Given the description of an element on the screen output the (x, y) to click on. 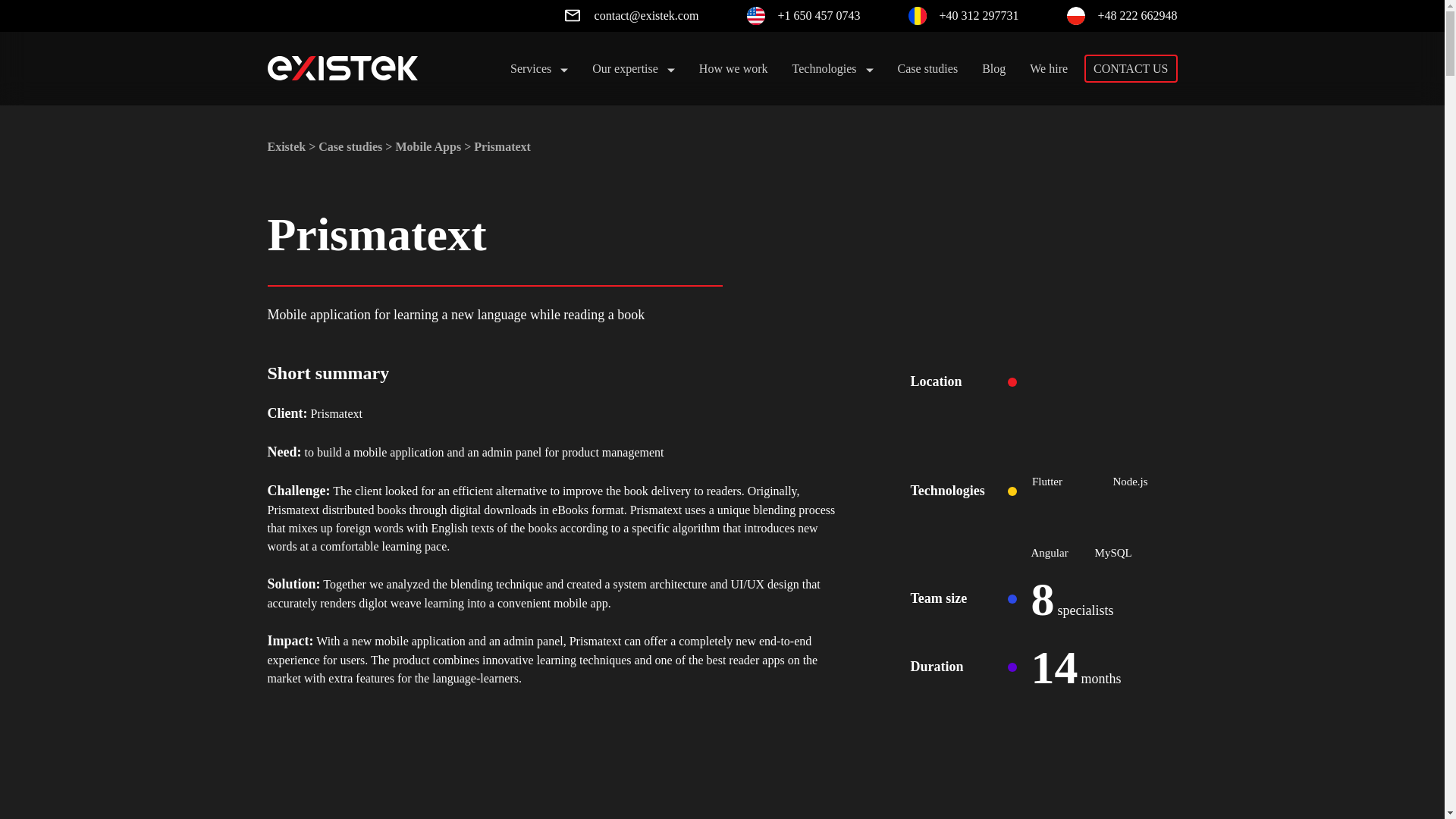
We hire (1048, 68)
Mobile Apps (427, 147)
CONTACT US (1130, 68)
Existek (285, 147)
Blog (993, 68)
How we work (733, 68)
Technologies (832, 68)
Case studies (349, 147)
Case studies (927, 68)
Our expertise (633, 68)
